Given the description of an element on the screen output the (x, y) to click on. 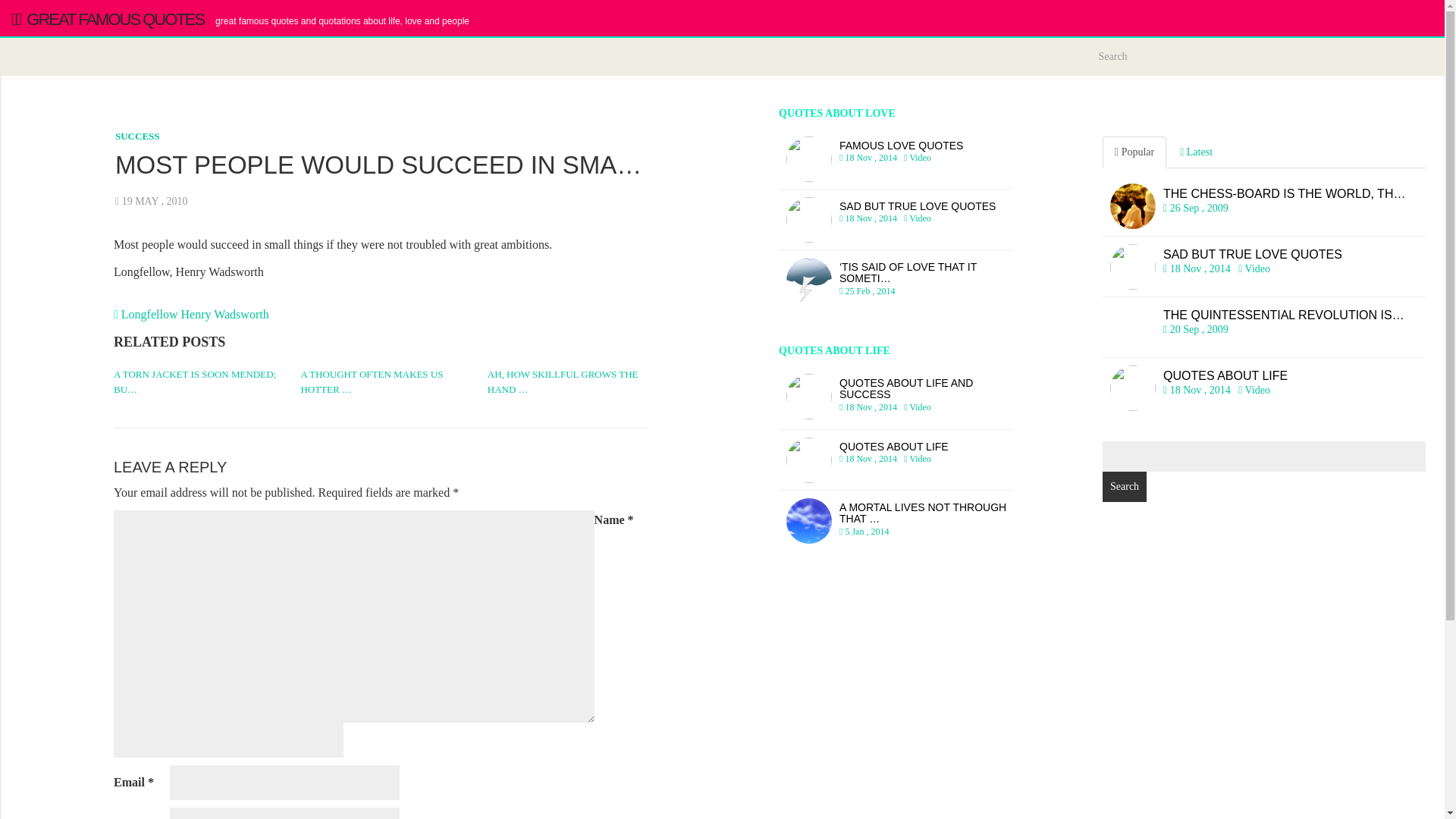
Search (1124, 486)
SUCCESS (1263, 387)
Longfellow Henry Wadsworth (1263, 266)
Search (894, 397)
Latest (137, 135)
